Given the description of an element on the screen output the (x, y) to click on. 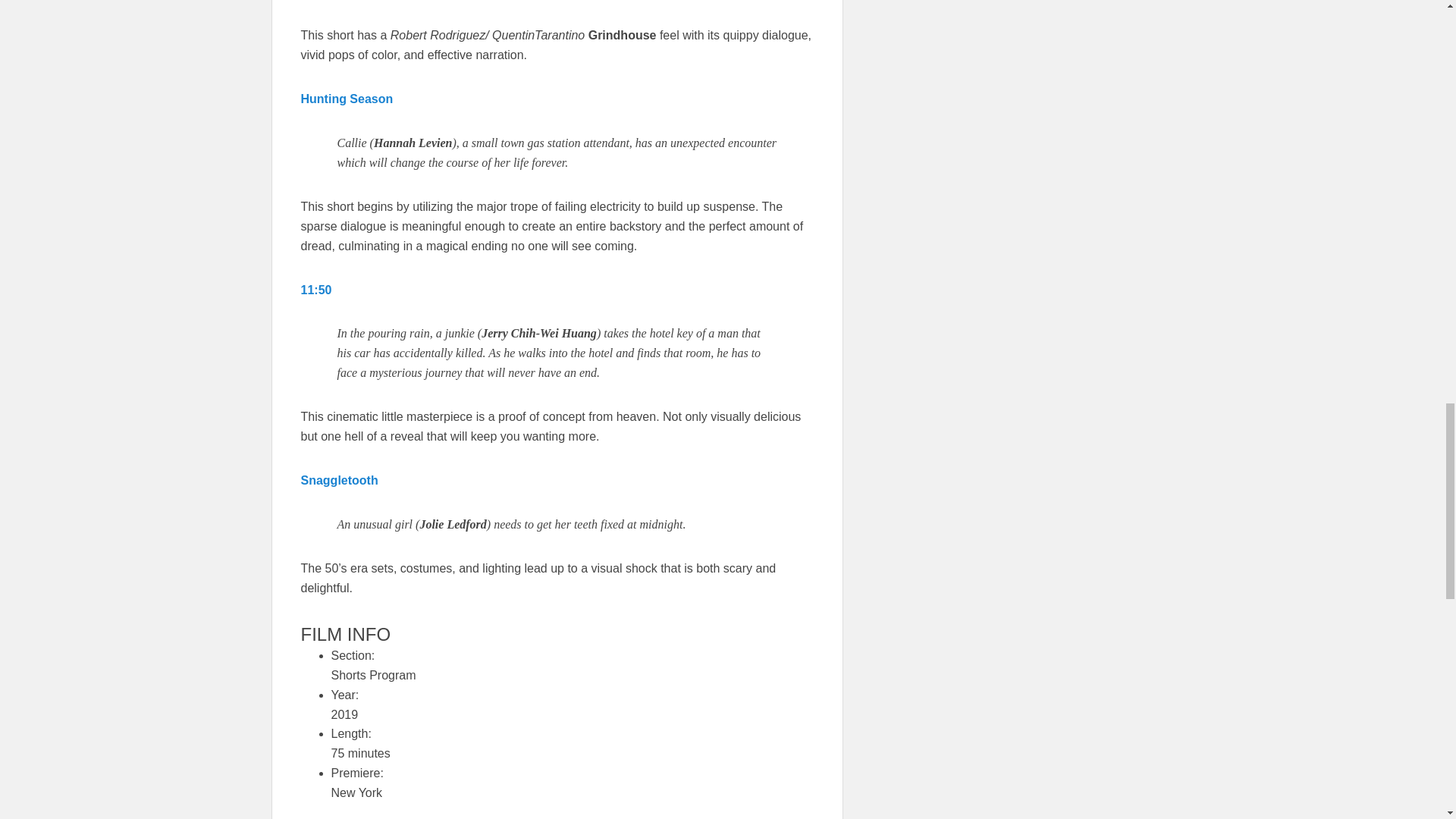
Hunting Season (346, 98)
Snaggletooth (338, 480)
11:50 (315, 289)
